Given the description of an element on the screen output the (x, y) to click on. 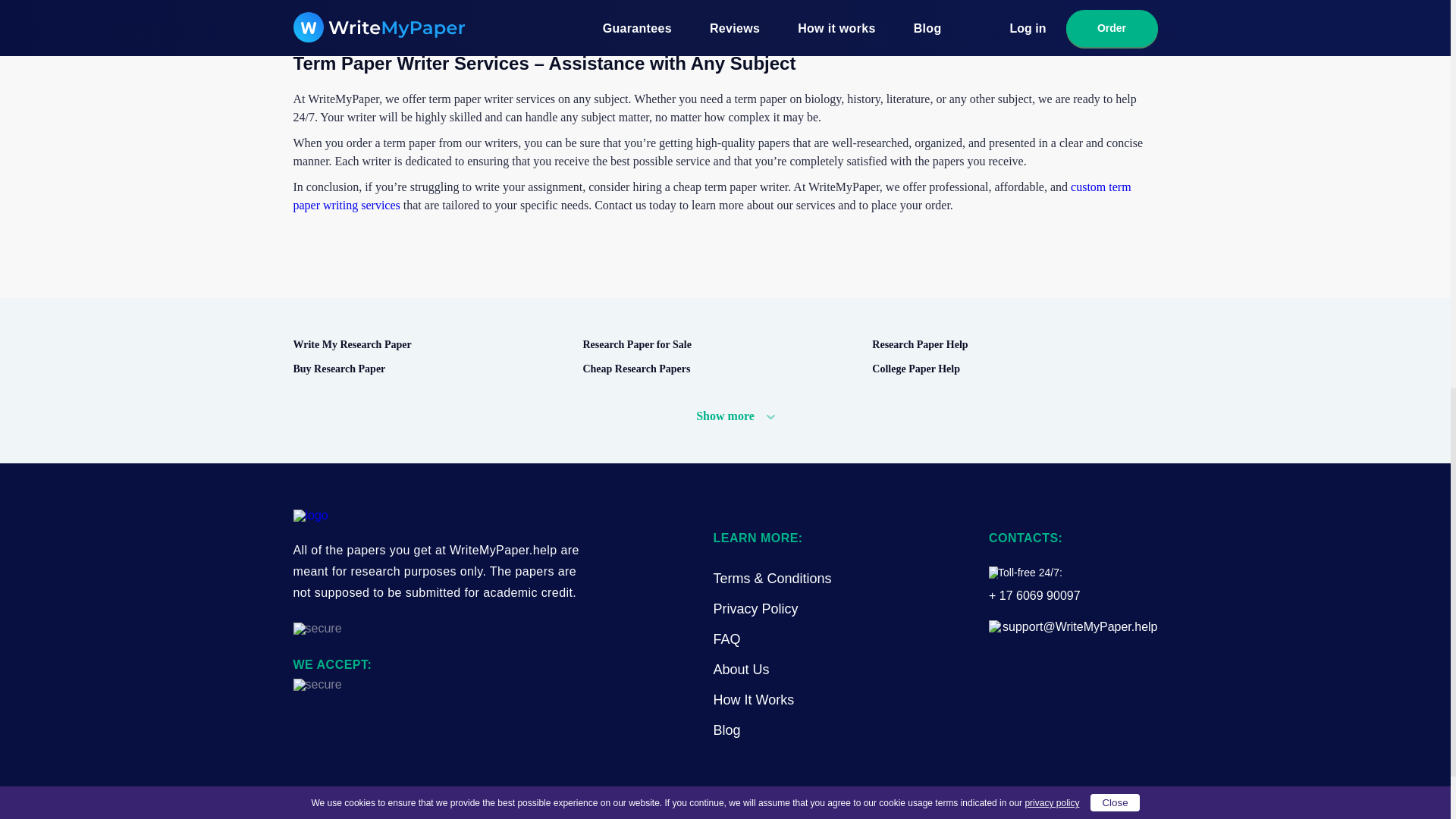
Privacy Policy (755, 608)
How It Works (753, 699)
Research Paper for Sale (720, 344)
College Paper Help (1010, 369)
Write My Research Paper (430, 344)
Research Paper Help (1010, 344)
custom term paper writing services (711, 195)
Blog (726, 729)
About Us (740, 669)
FAQ (726, 639)
Buy Research Paper (430, 369)
Cheap Research Papers (720, 369)
